Given the description of an element on the screen output the (x, y) to click on. 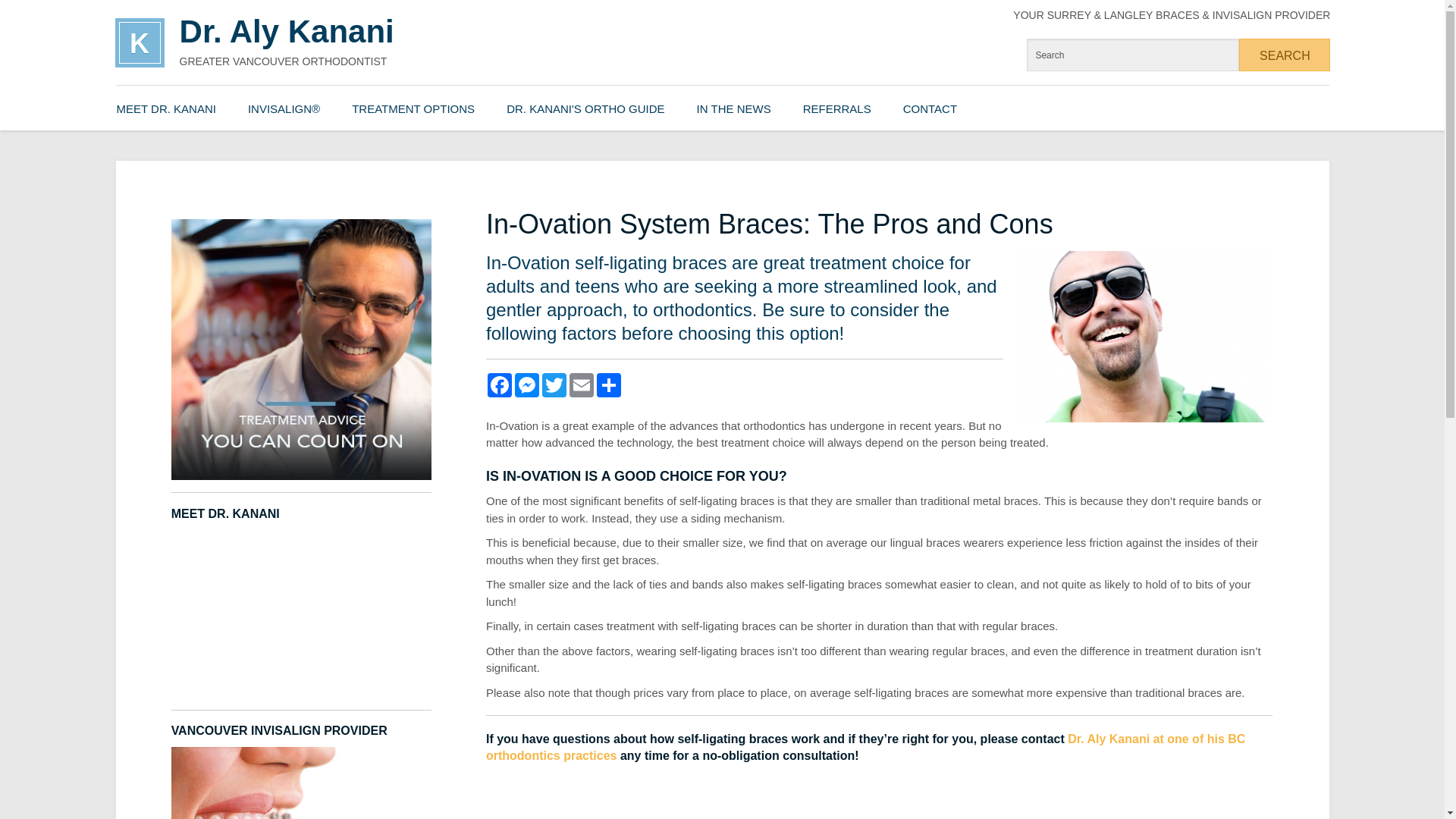
Facebook (499, 385)
DR. KANANI'S ORTHO GUIDE (585, 108)
CONTACT (930, 108)
Messenger (526, 385)
In The News (733, 108)
Search (1284, 54)
Twitter (553, 385)
Dr. Aly Kanani at one of his BC orthodontics practices (865, 747)
Invisalign, BC Orthodontics (283, 108)
REFERRALS (837, 108)
